Given the description of an element on the screen output the (x, y) to click on. 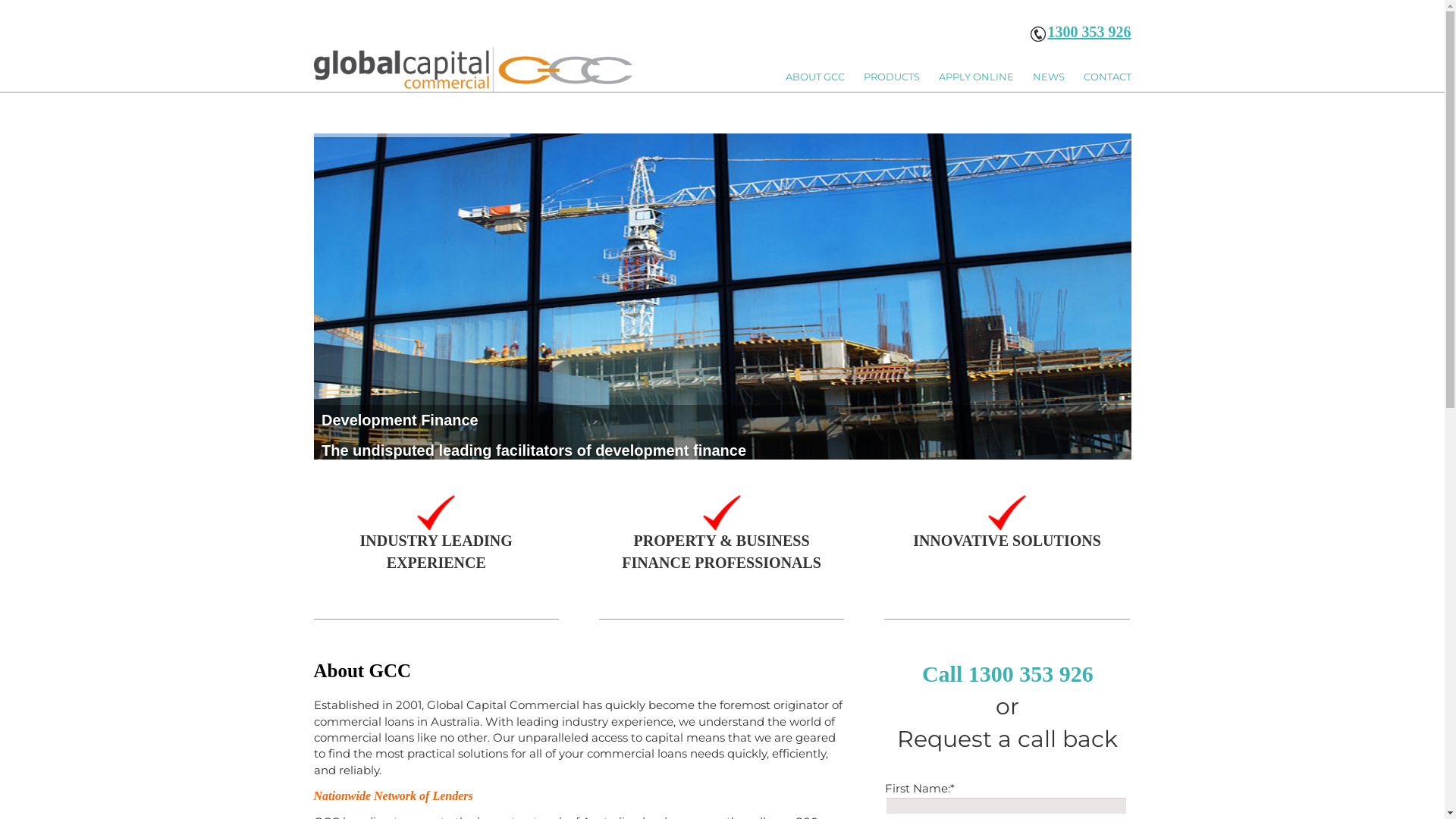
CONTACT Element type: text (1106, 76)
PRODUCTS Element type: text (900, 76)
LOGO Element type: hover (472, 69)
Skip to primary content Element type: text (759, 68)
Skip to secondary content Element type: text (766, 68)
ABOUT GCC Element type: text (824, 76)
NEWS Element type: text (1057, 76)
APPLY ONLINE Element type: text (985, 76)
